Given the description of an element on the screen output the (x, y) to click on. 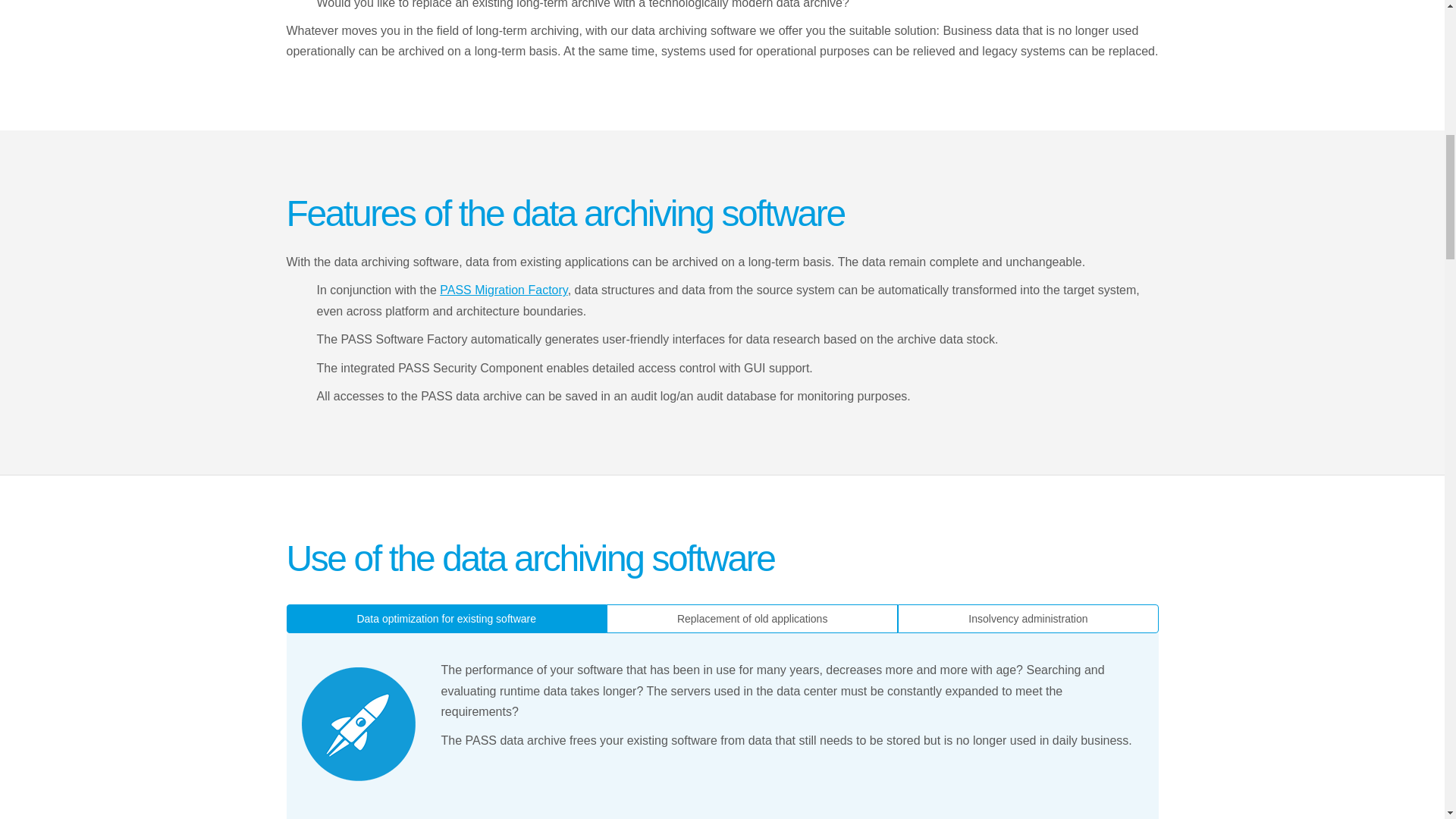
Data optimization for existing software (357, 724)
